Given the description of an element on the screen output the (x, y) to click on. 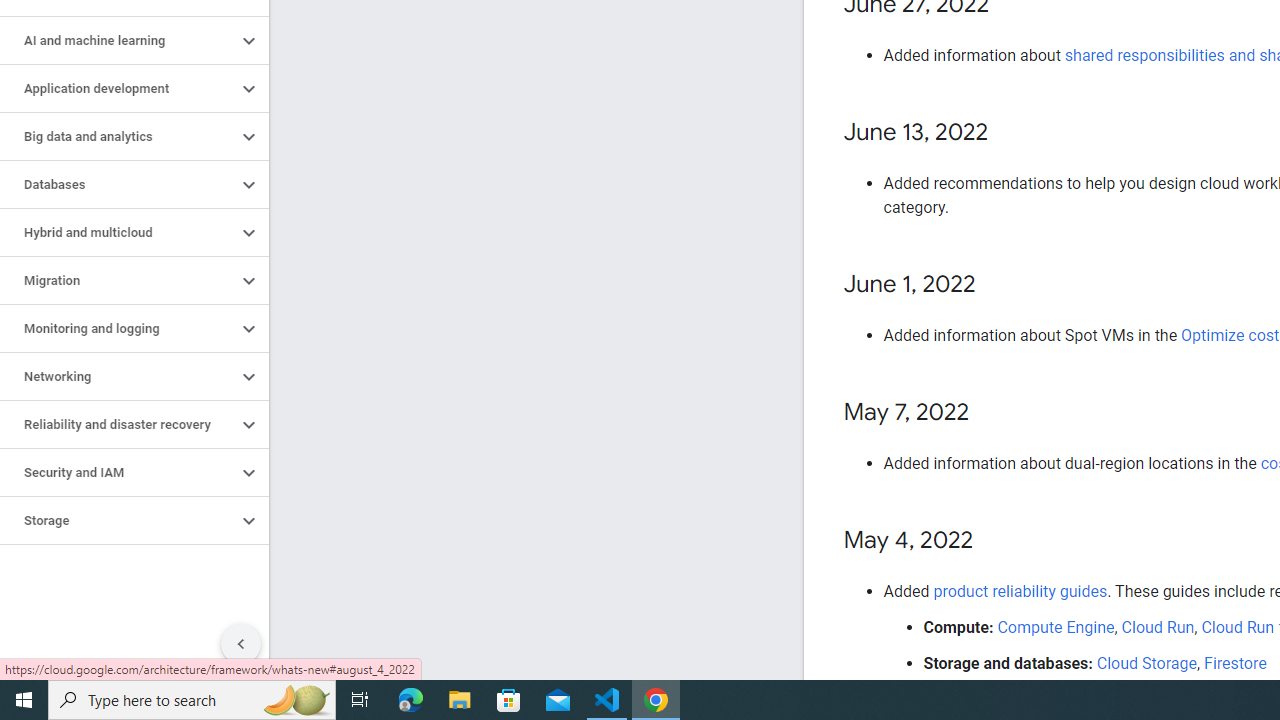
Monitoring and logging (118, 328)
Cloud Storage (1145, 663)
Copy link to this section: June 1, 2022 (995, 285)
Security and IAM (118, 472)
Hide side navigation (241, 643)
Databases (118, 184)
Application development (118, 88)
